Given the description of an element on the screen output the (x, y) to click on. 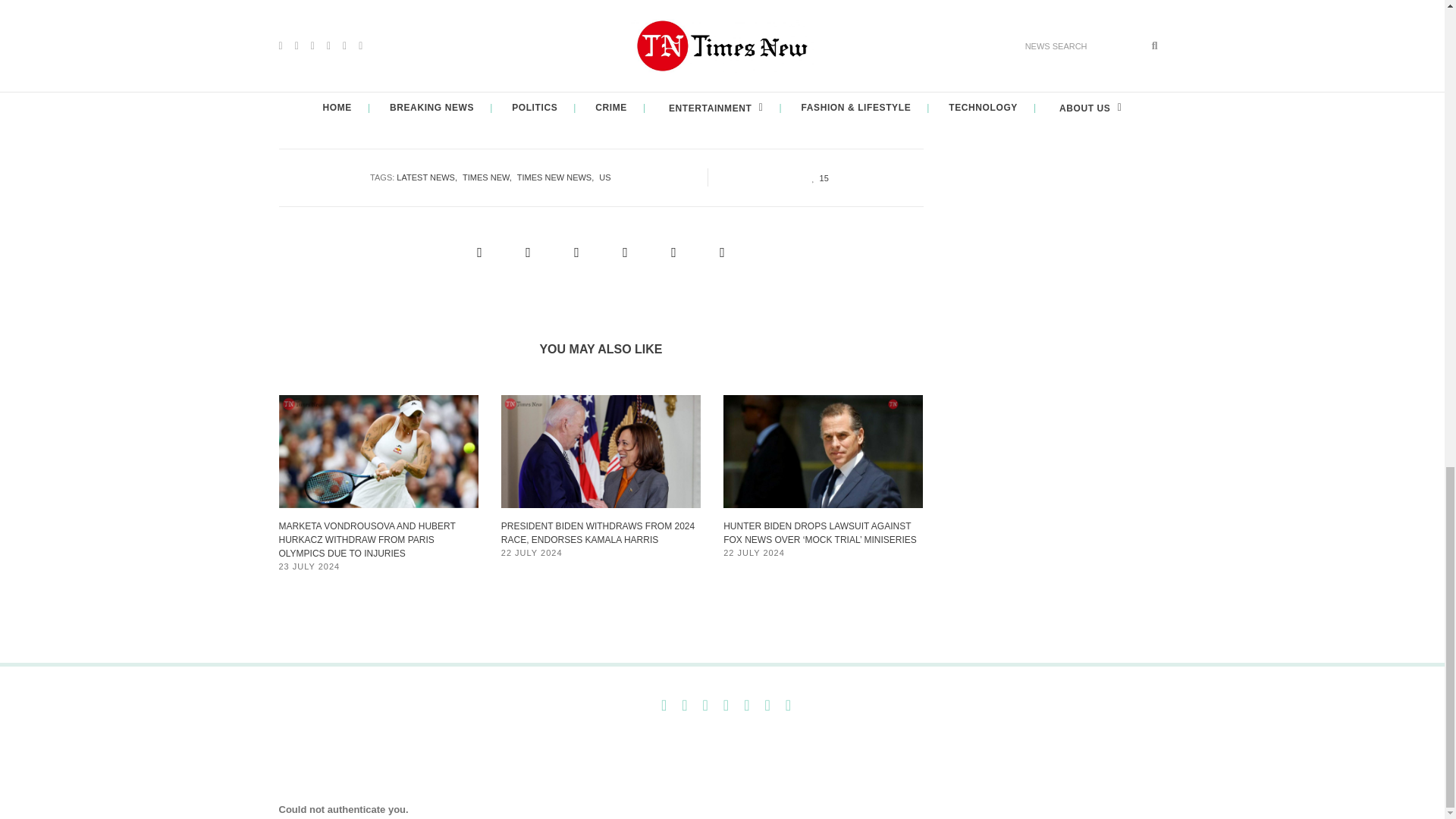
US (606, 177)
LATEST NEWS (429, 177)
TIMES NEW NEWS (557, 177)
TIMES NEW (489, 177)
Like (815, 176)
15 (815, 176)
